Given the description of an element on the screen output the (x, y) to click on. 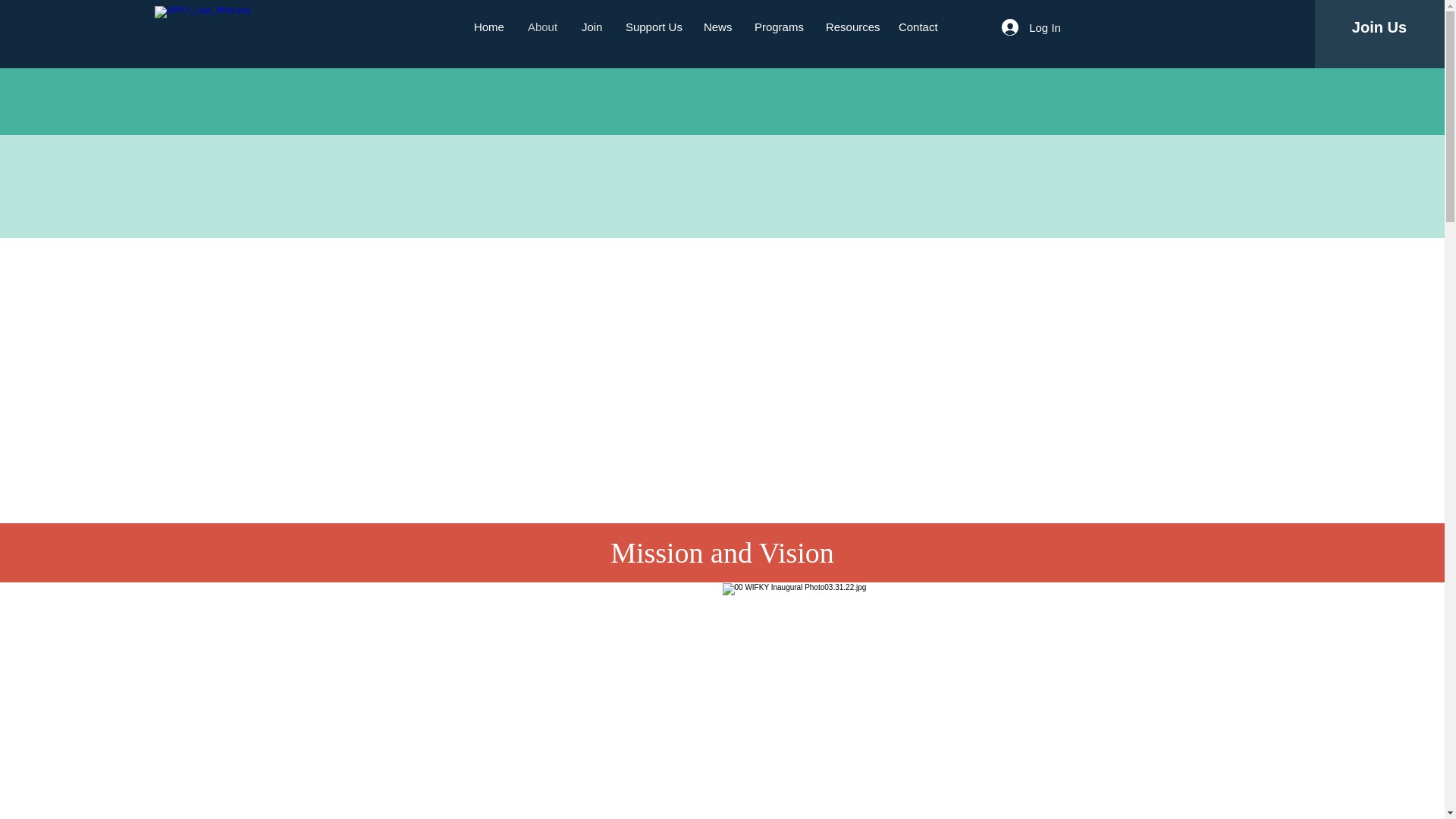
Programs (777, 27)
Resources (849, 27)
Home (489, 27)
Support Us (653, 27)
Join Us (1378, 27)
About (543, 27)
News (717, 27)
Log In (1031, 27)
Contact (918, 27)
Join (592, 27)
